Given the description of an element on the screen output the (x, y) to click on. 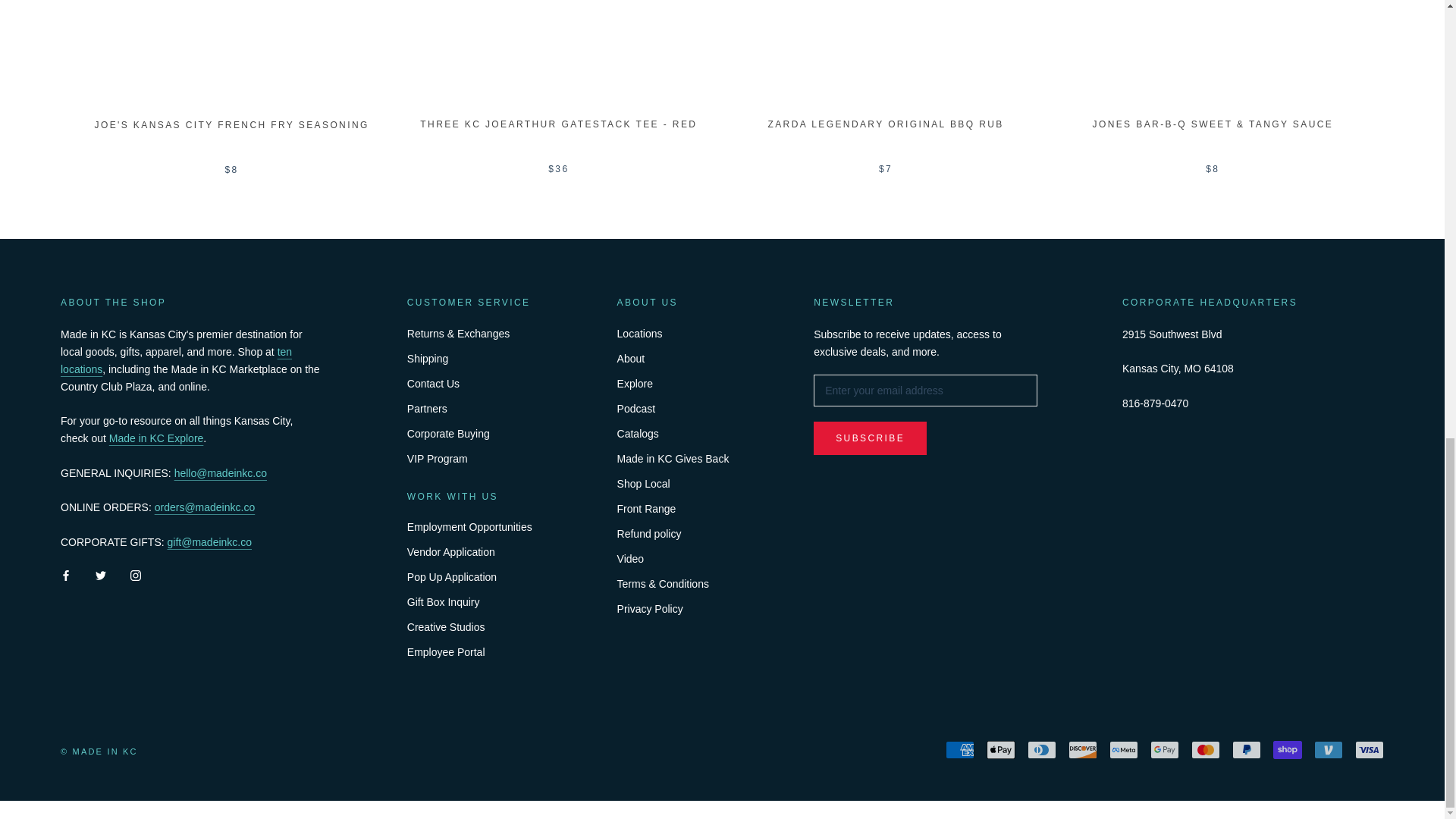
Meta Pay (1123, 750)
American Express (959, 750)
Apple Pay (1000, 750)
PayPal (1245, 750)
Visa (1369, 750)
Mastercard (1205, 750)
Google Pay (1164, 750)
Diners Club (1042, 750)
Venmo (1328, 750)
Discover (1082, 750)
